Given the description of an element on the screen output the (x, y) to click on. 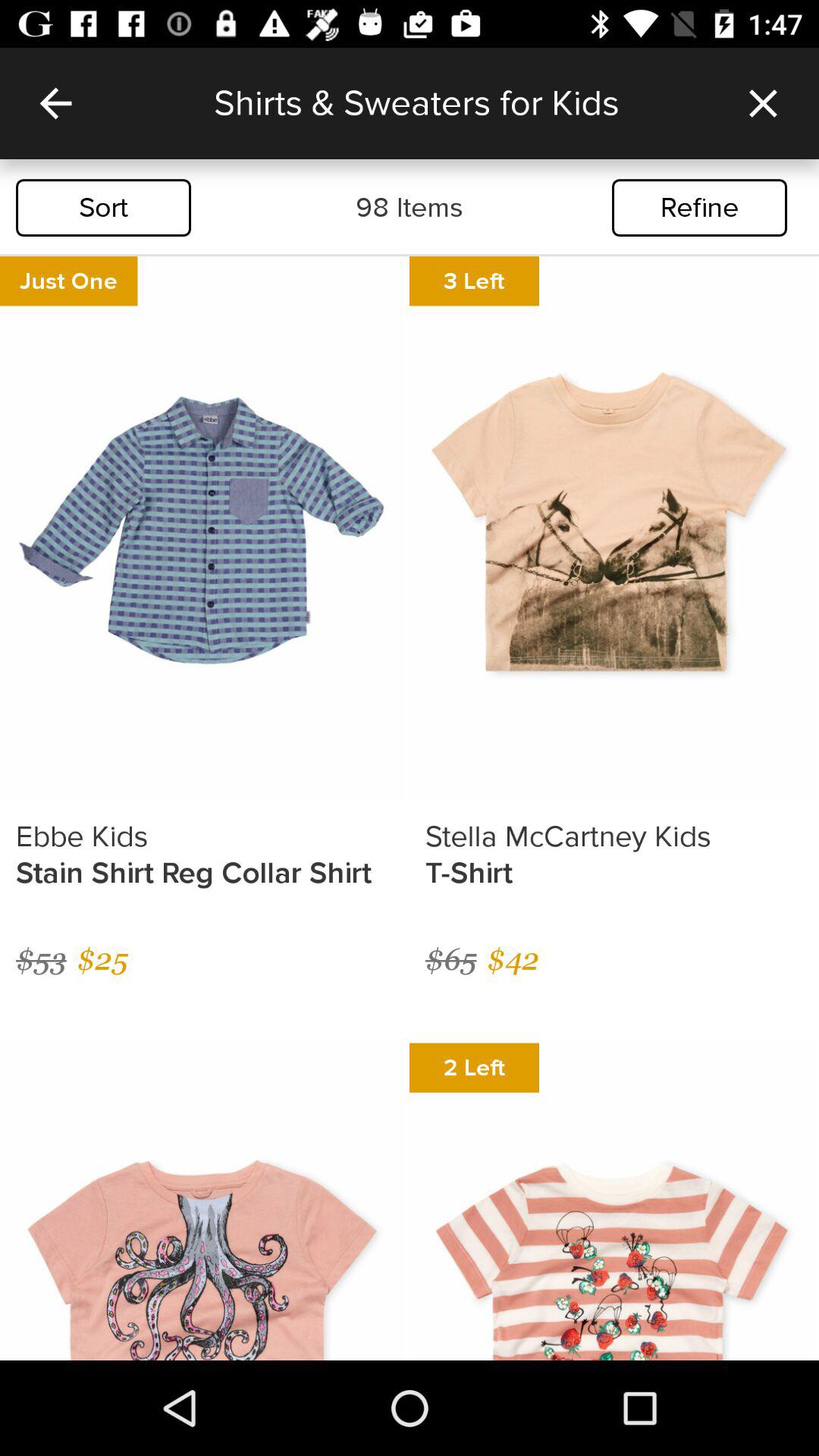
turn off item to the right of 98 items (699, 207)
